Given the description of an element on the screen output the (x, y) to click on. 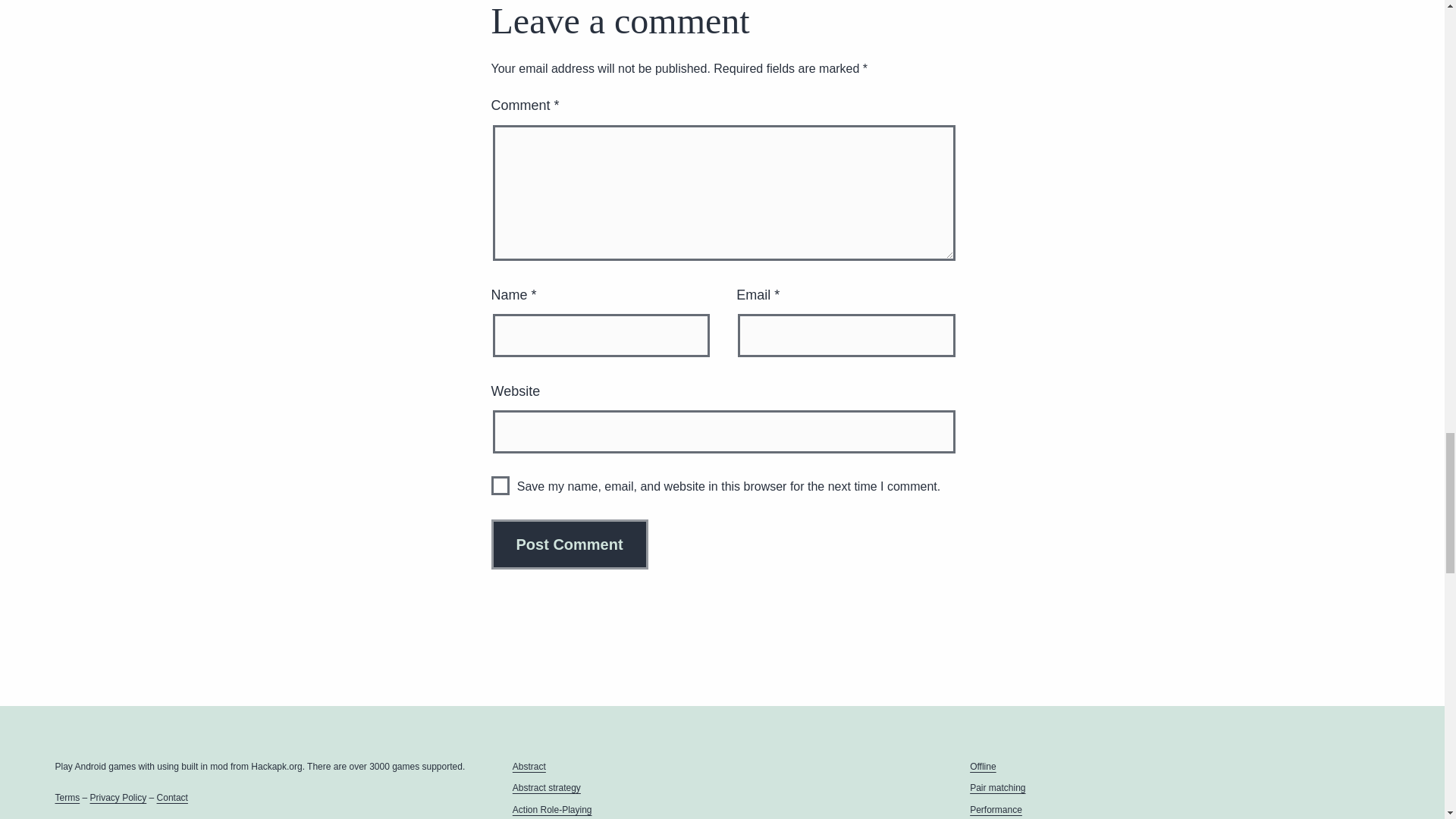
Contact (172, 797)
Abstract strategy (546, 787)
Abstract (529, 766)
yes (500, 485)
Post Comment (569, 544)
Post Comment (569, 544)
Action Role-Playing (552, 809)
Terms (67, 797)
Privacy Policy (118, 797)
